Given the description of an element on the screen output the (x, y) to click on. 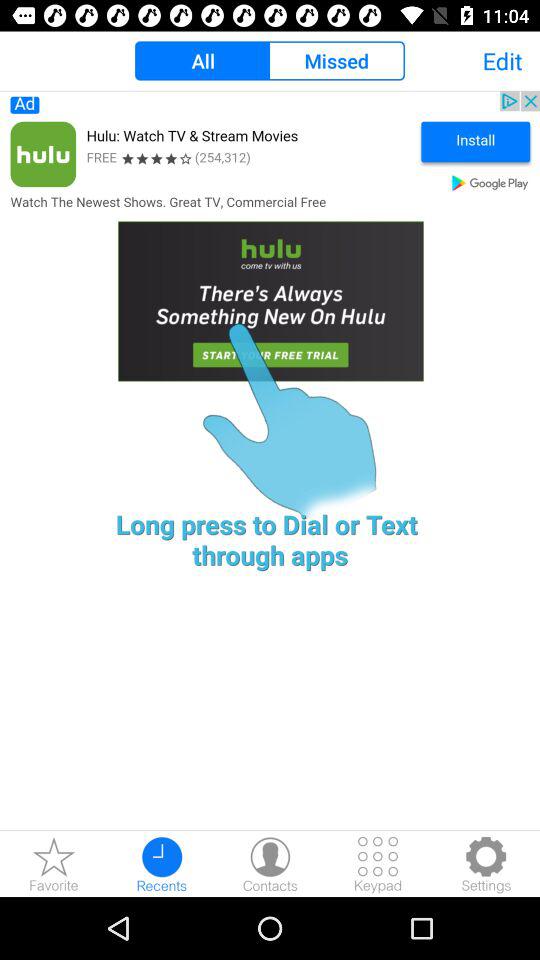
show keypad (377, 864)
